Given the description of an element on the screen output the (x, y) to click on. 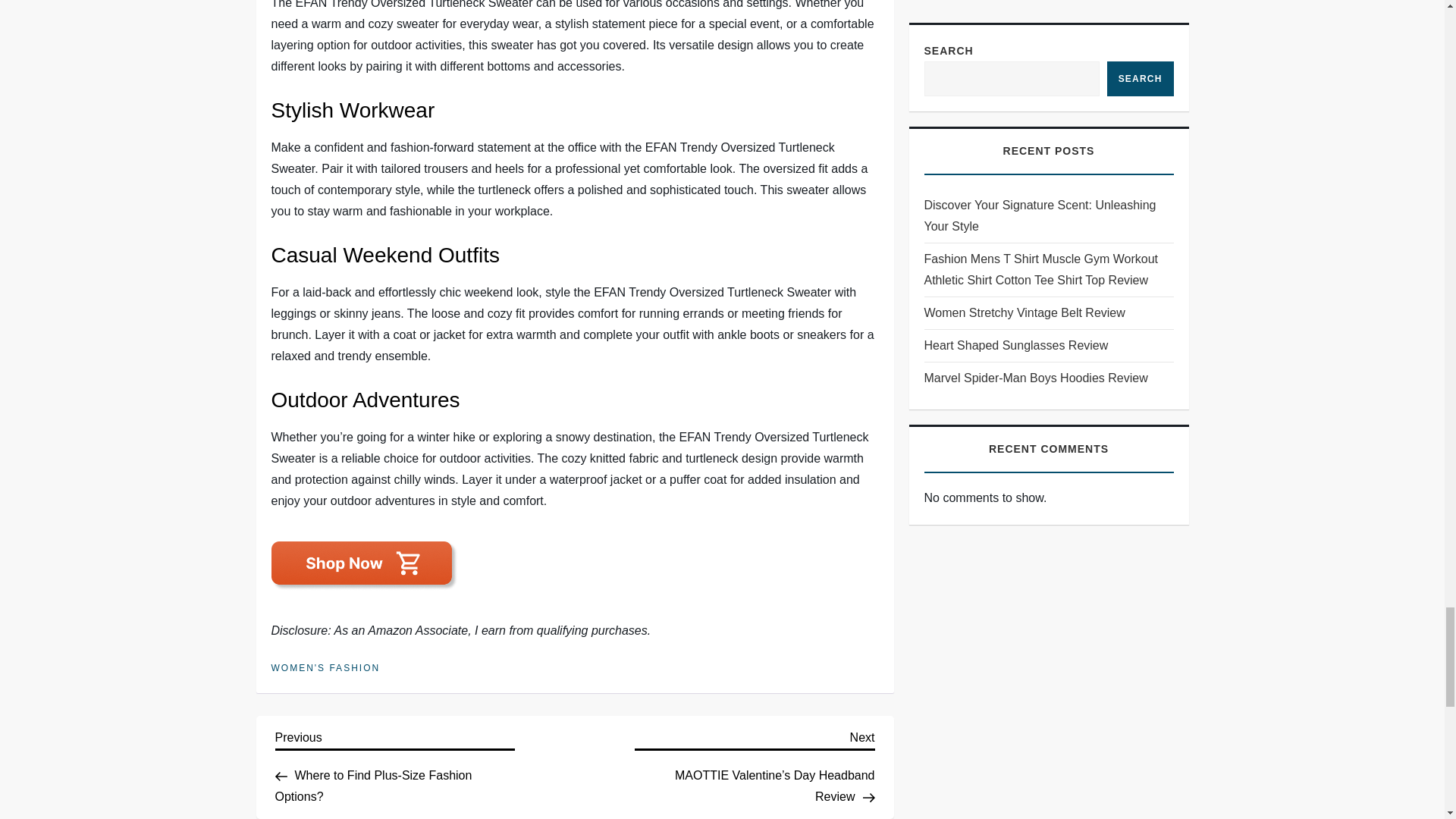
WOMEN'S FASHION (325, 668)
